Given the description of an element on the screen output the (x, y) to click on. 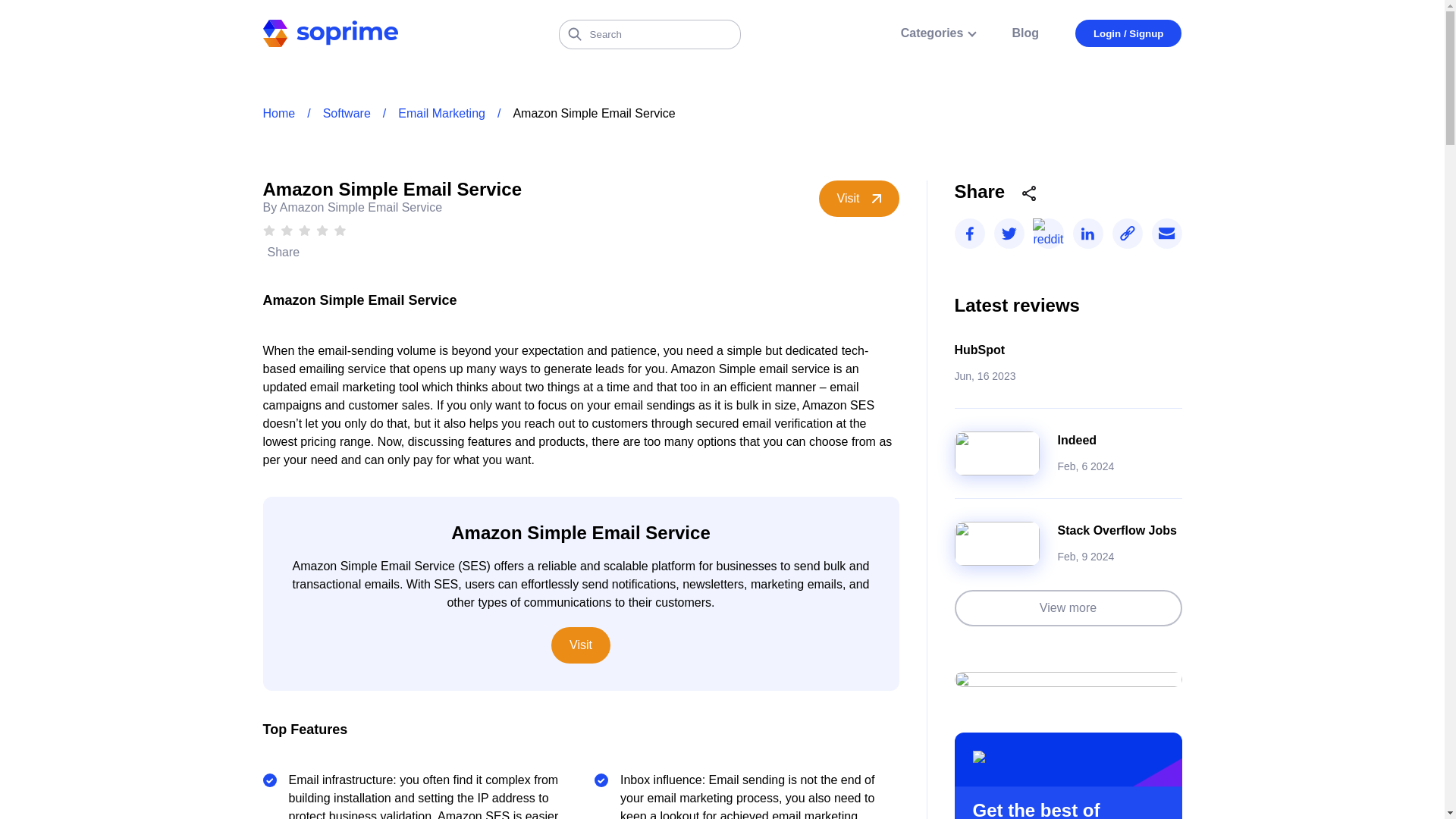
logo-main (329, 38)
Indeed (1076, 440)
Share (280, 252)
Blog (1025, 33)
Visit (580, 645)
HubSpot (978, 349)
Email Marketing (440, 113)
Home (278, 113)
Software (347, 113)
View more (1066, 607)
Visit (858, 198)
Stack Overflow Jobs (1116, 530)
